Given the description of an element on the screen output the (x, y) to click on. 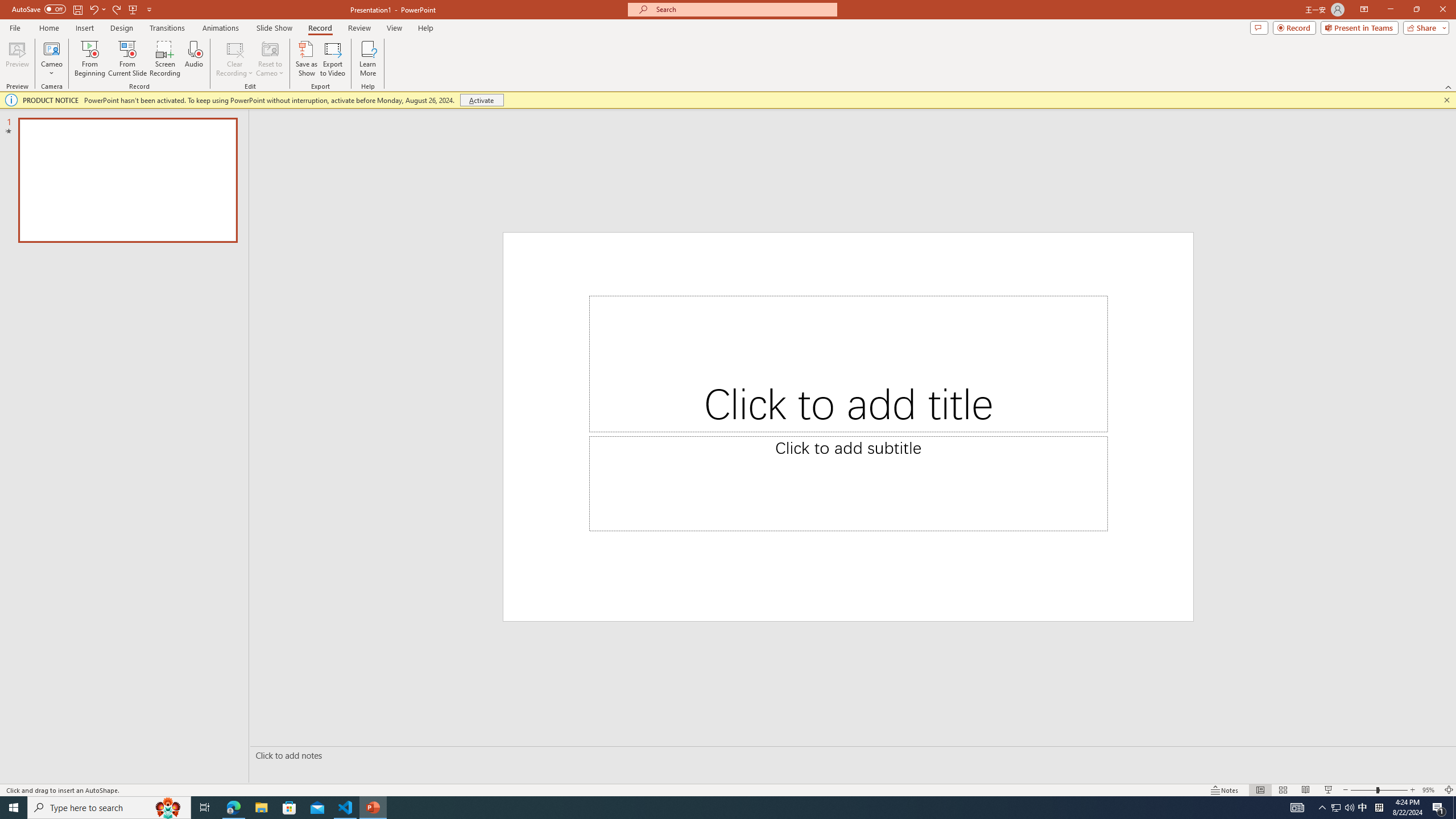
Zoom 95% (1430, 790)
